Given the description of an element on the screen output the (x, y) to click on. 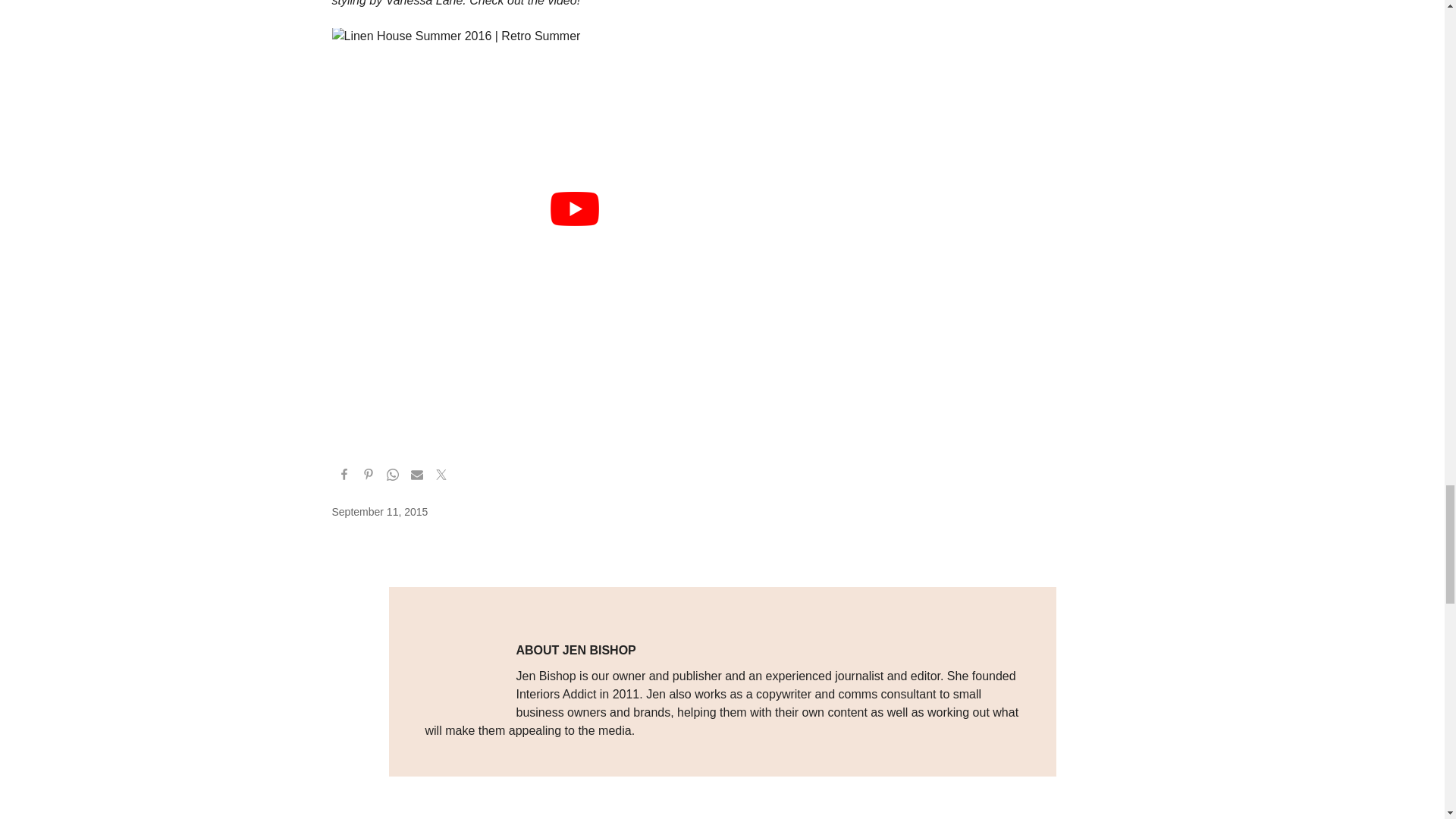
Share on Pinterest (368, 476)
Share on Twitter (440, 476)
Share via Email (416, 476)
Share on Facebook (343, 476)
